Given the description of an element on the screen output the (x, y) to click on. 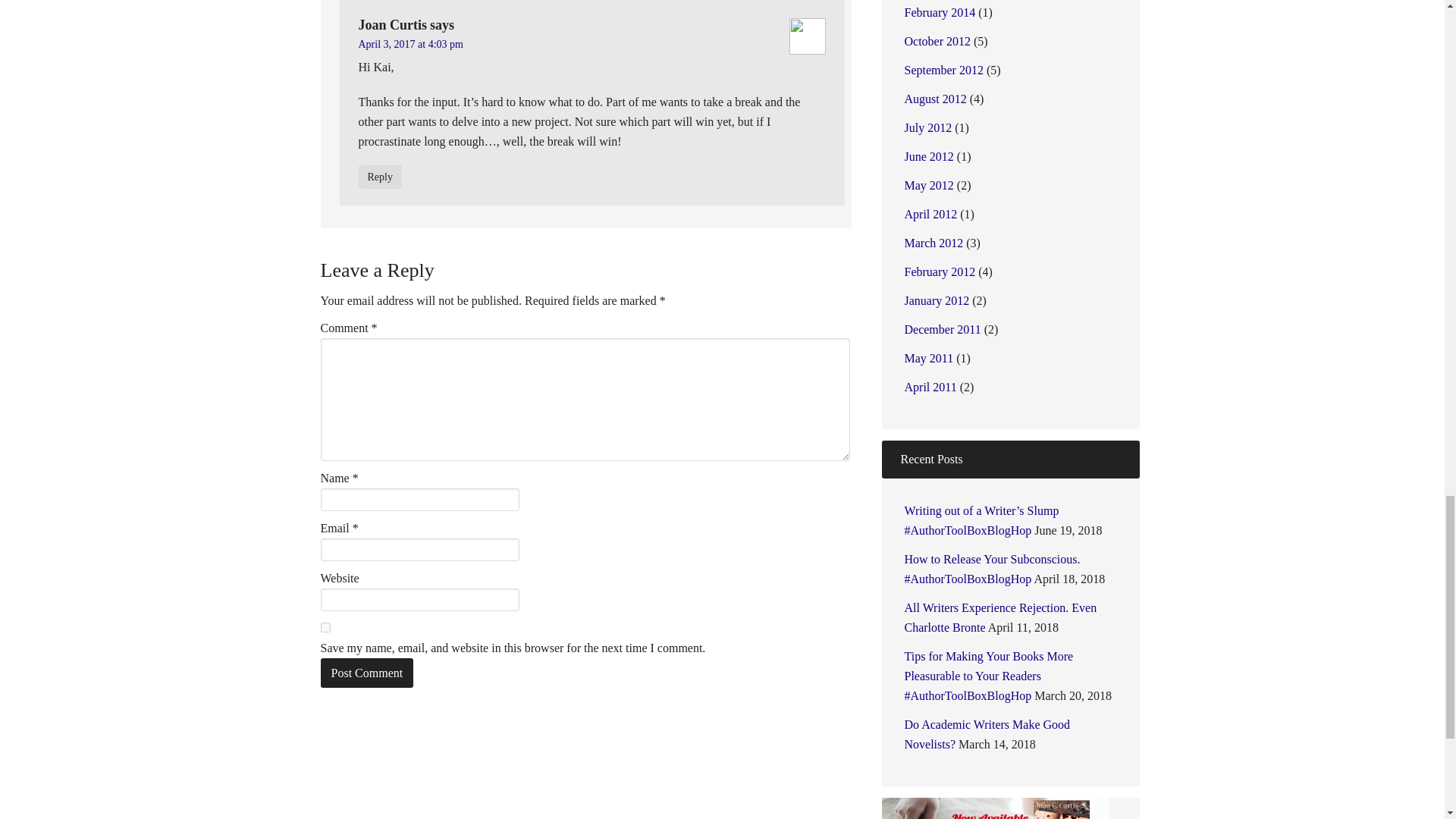
yes (325, 627)
Post Comment (366, 672)
